Given the description of an element on the screen output the (x, y) to click on. 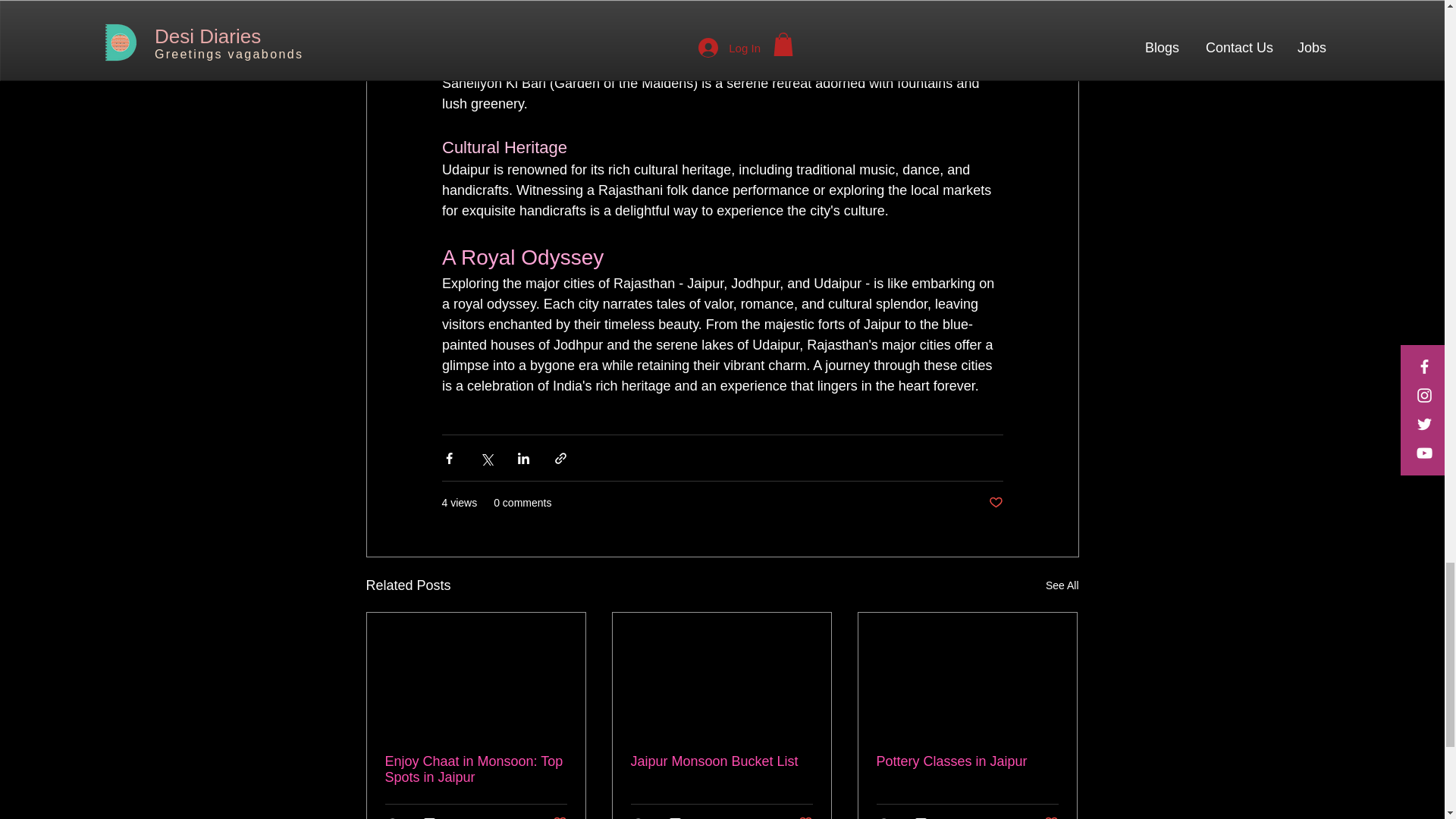
See All (1061, 585)
Post not marked as liked (804, 816)
0 (926, 817)
0 (681, 817)
0 (435, 817)
Post not marked as liked (1050, 816)
Jaipur Monsoon Bucket List (721, 761)
Enjoy Chaat in Monsoon: Top Spots in Jaipur (476, 769)
Post not marked as liked (558, 816)
Post not marked as liked (995, 503)
Pottery Classes in Jaipur (967, 761)
